Given the description of an element on the screen output the (x, y) to click on. 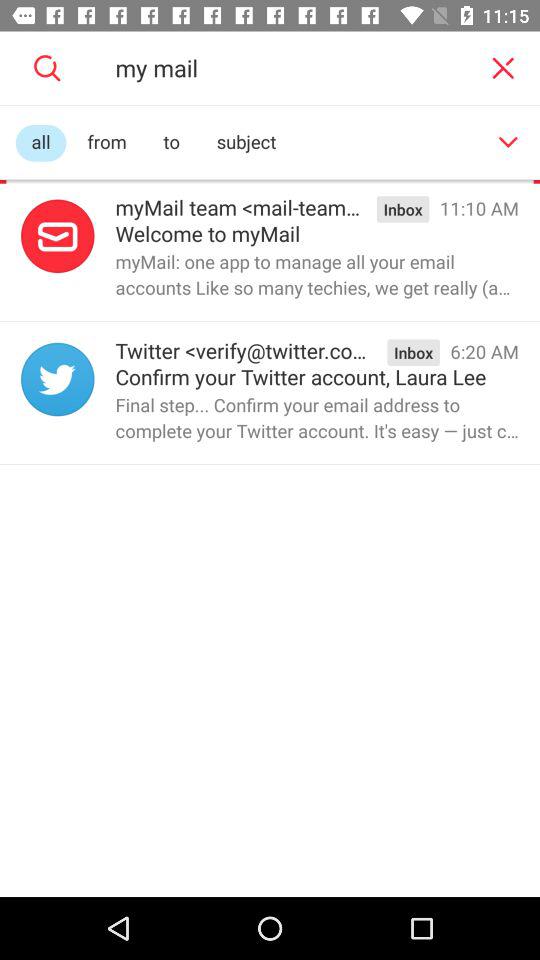
show options (508, 142)
